Given the description of an element on the screen output the (x, y) to click on. 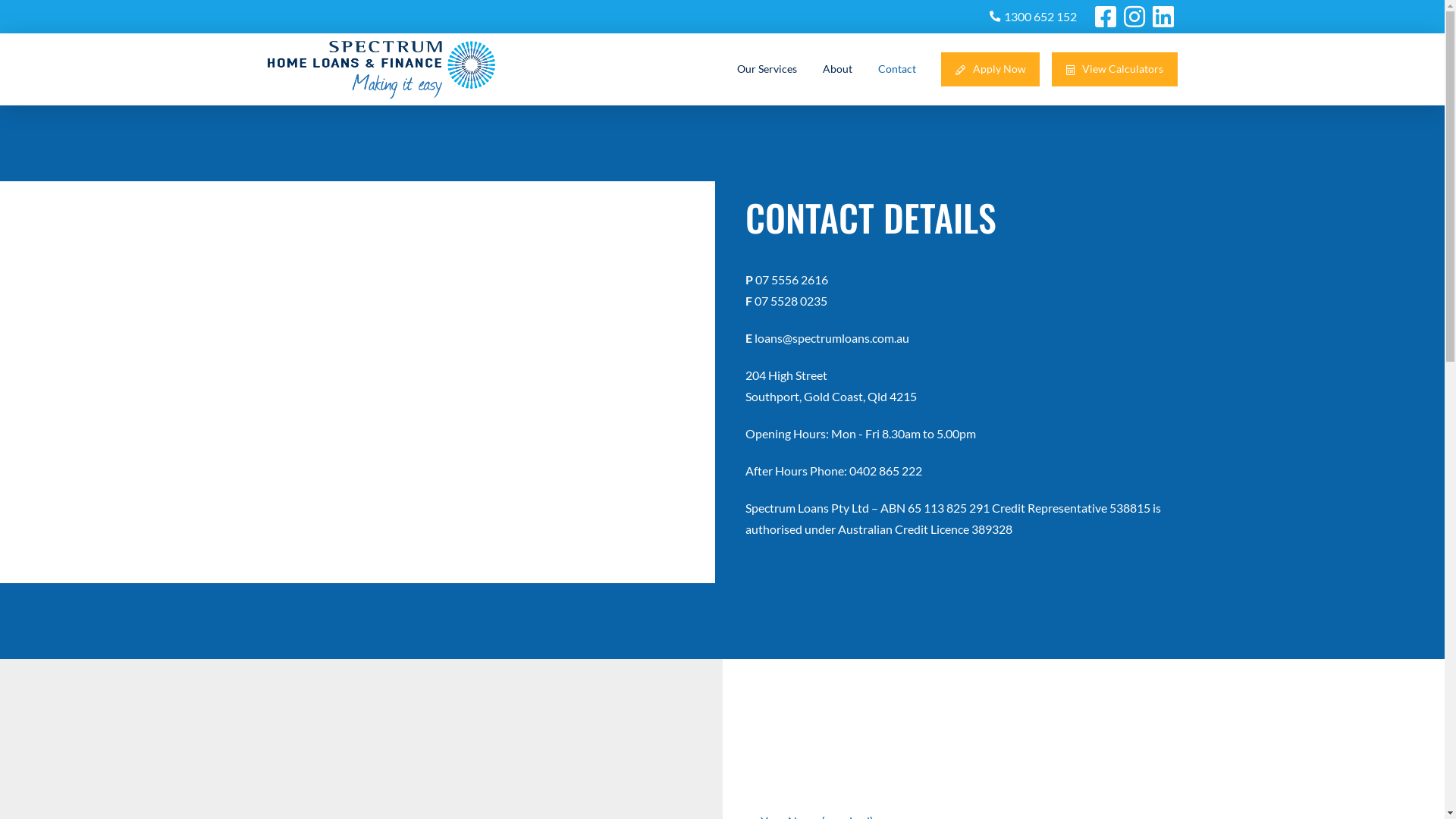
Our Services Element type: text (766, 69)
0402 865 222 Element type: text (885, 470)
Apply Now Element type: text (990, 69)
loans@spectrumloans.com.au Element type: text (830, 337)
About Element type: text (837, 69)
07 5528 0235 Element type: text (789, 300)
View Calculators Element type: text (1113, 69)
1300 652 152 Element type: text (1040, 16)
07 5556 2616 Element type: text (791, 279)
Contact Element type: text (896, 69)
